Given the description of an element on the screen output the (x, y) to click on. 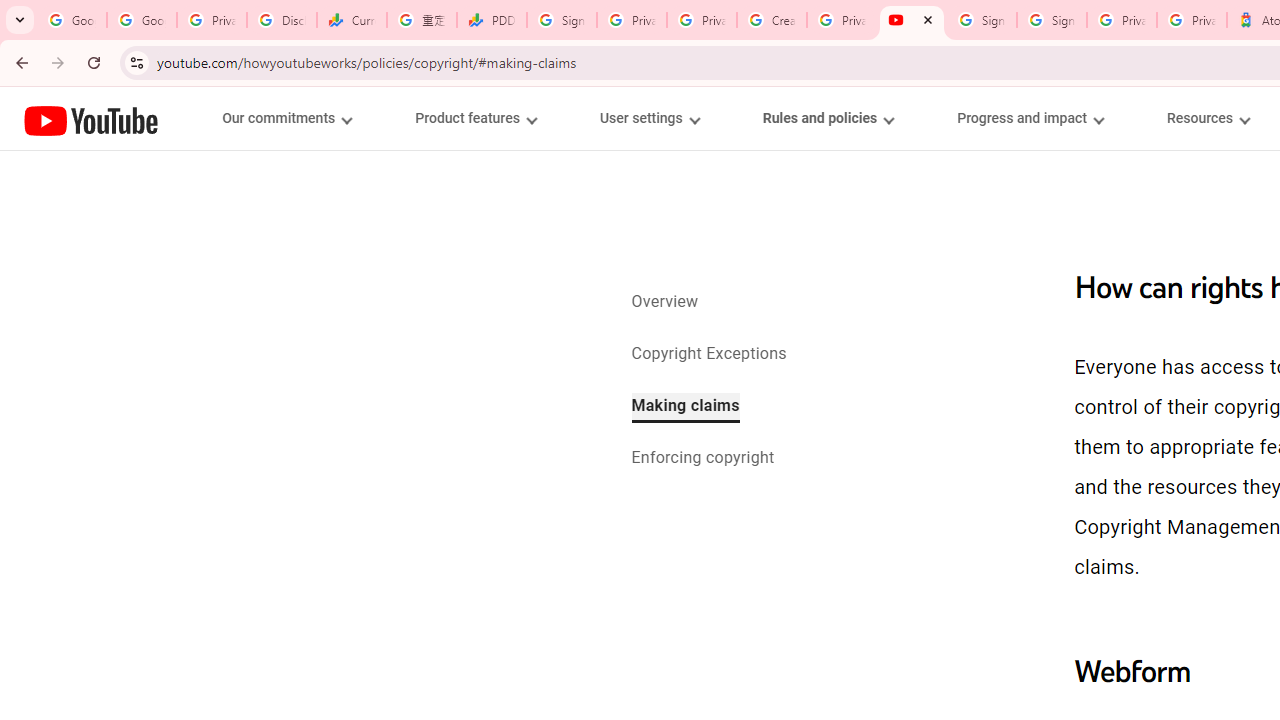
YouTube Copyright Rules & Policies - How YouTube Works (911, 20)
Resources menupopup (1208, 118)
Enforcing copyright (702, 459)
Making claims (685, 407)
Rules and policies menupopup (827, 118)
YouTube (91, 120)
Sign in - Google Accounts (1051, 20)
